Given the description of an element on the screen output the (x, y) to click on. 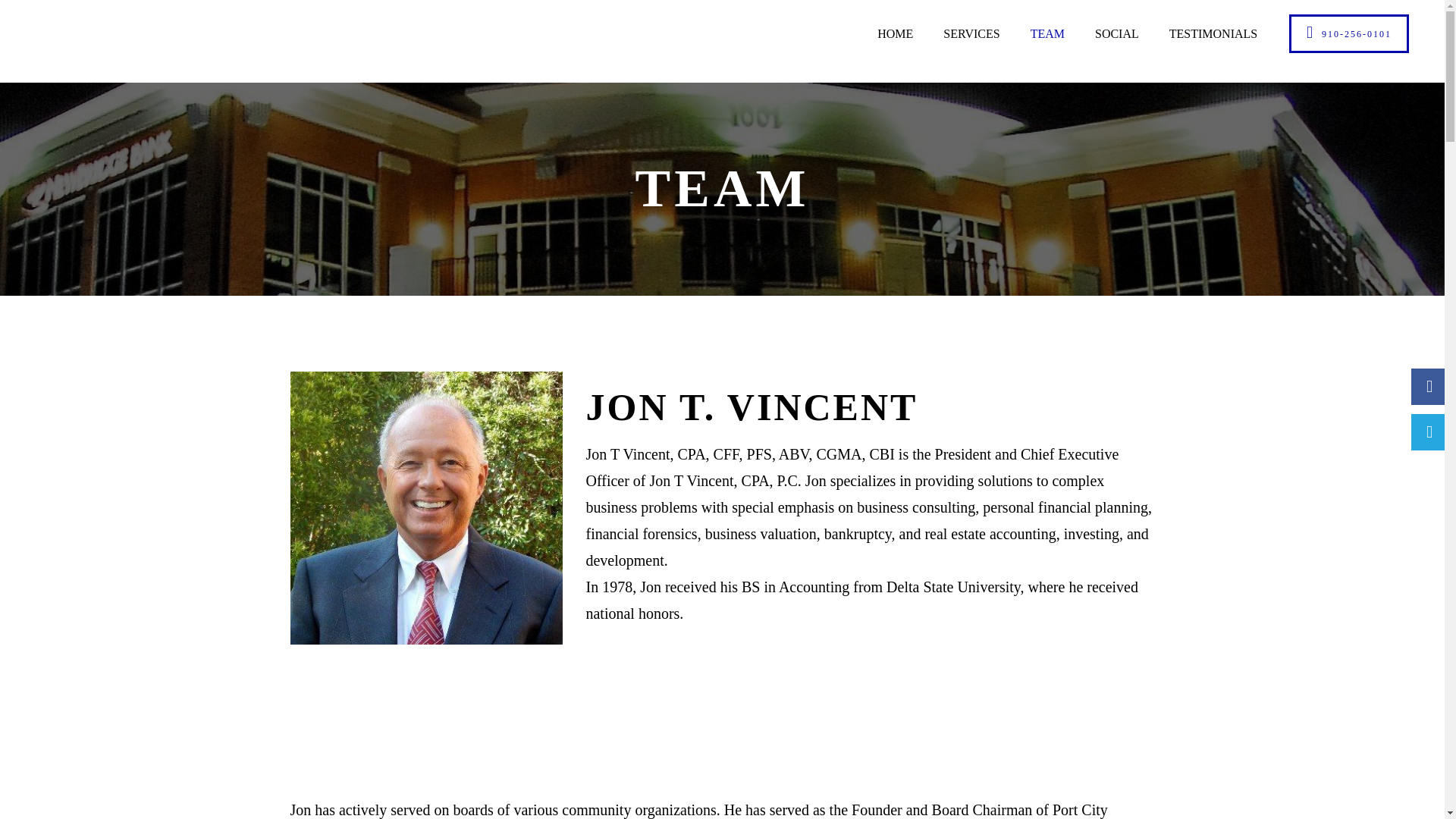
SOCIAL (1117, 33)
TEAM (1047, 33)
HOME (894, 33)
910-256-0101 (1348, 33)
SERVICES (971, 33)
TESTIMONIALS (1213, 33)
